Given the description of an element on the screen output the (x, y) to click on. 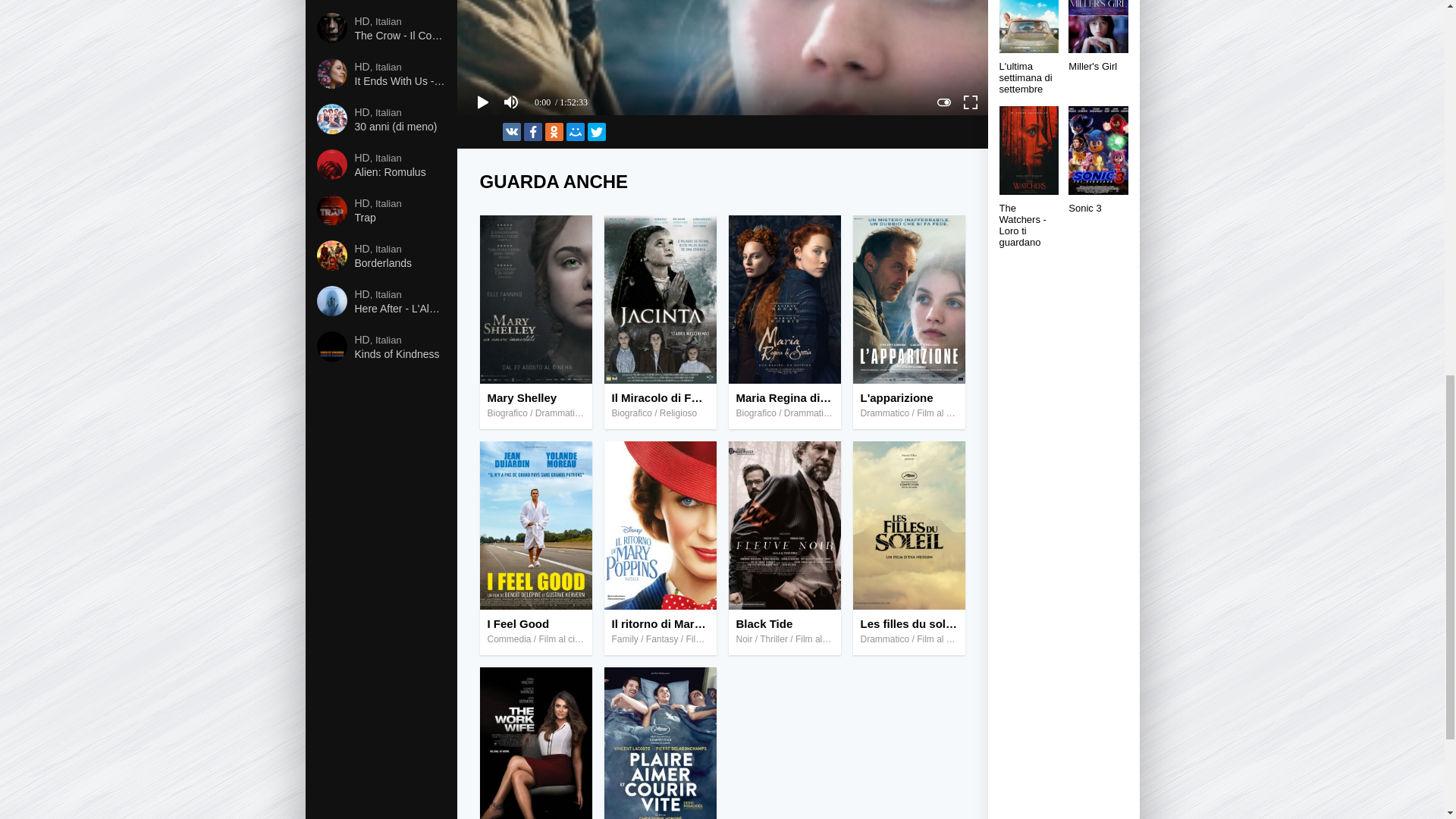
Twitter (595, 131)
Facebook (531, 131)
